Given the description of an element on the screen output the (x, y) to click on. 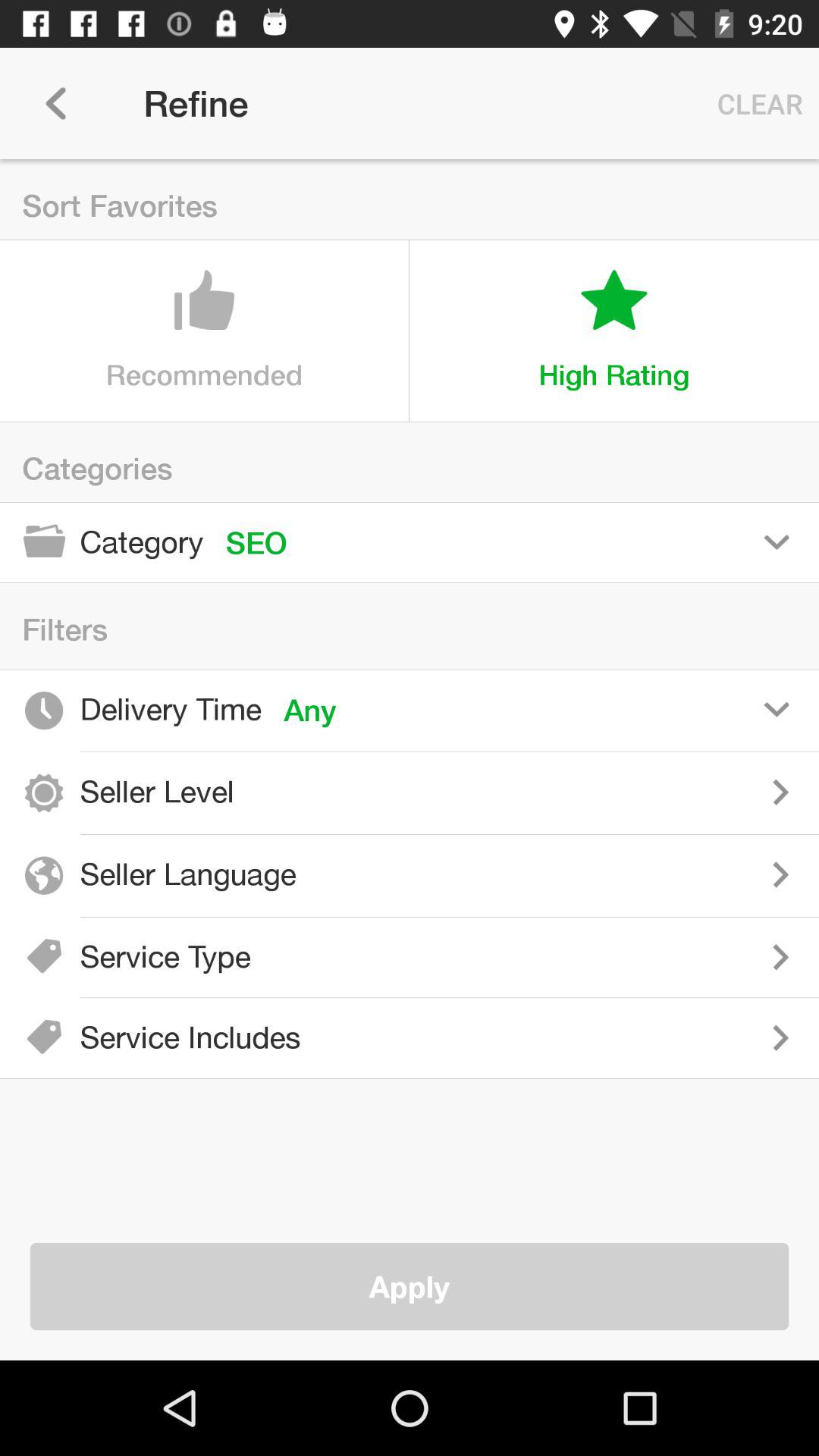
click to enter subcategory menu (546, 956)
